Given the description of an element on the screen output the (x, y) to click on. 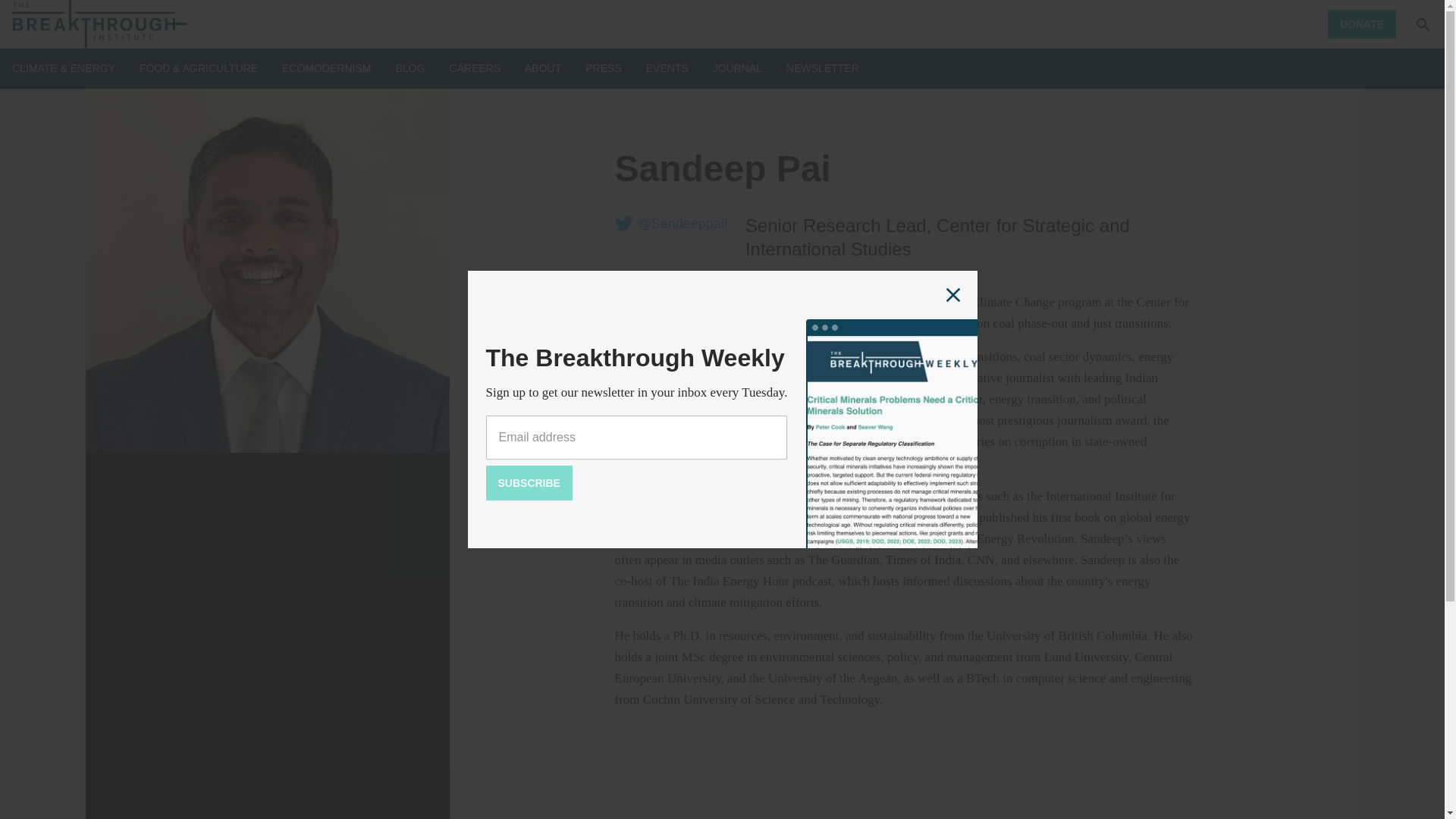
DONATE (1361, 23)
BLOG (409, 68)
PRESS (603, 68)
NEWSLETTER (822, 68)
ECOMODERNISM (326, 68)
ABOUT (542, 68)
Open search tray (1422, 23)
EVENTS (667, 68)
Subscribe (528, 483)
JOURNAL (737, 68)
CAREERS (474, 68)
